Given the description of an element on the screen output the (x, y) to click on. 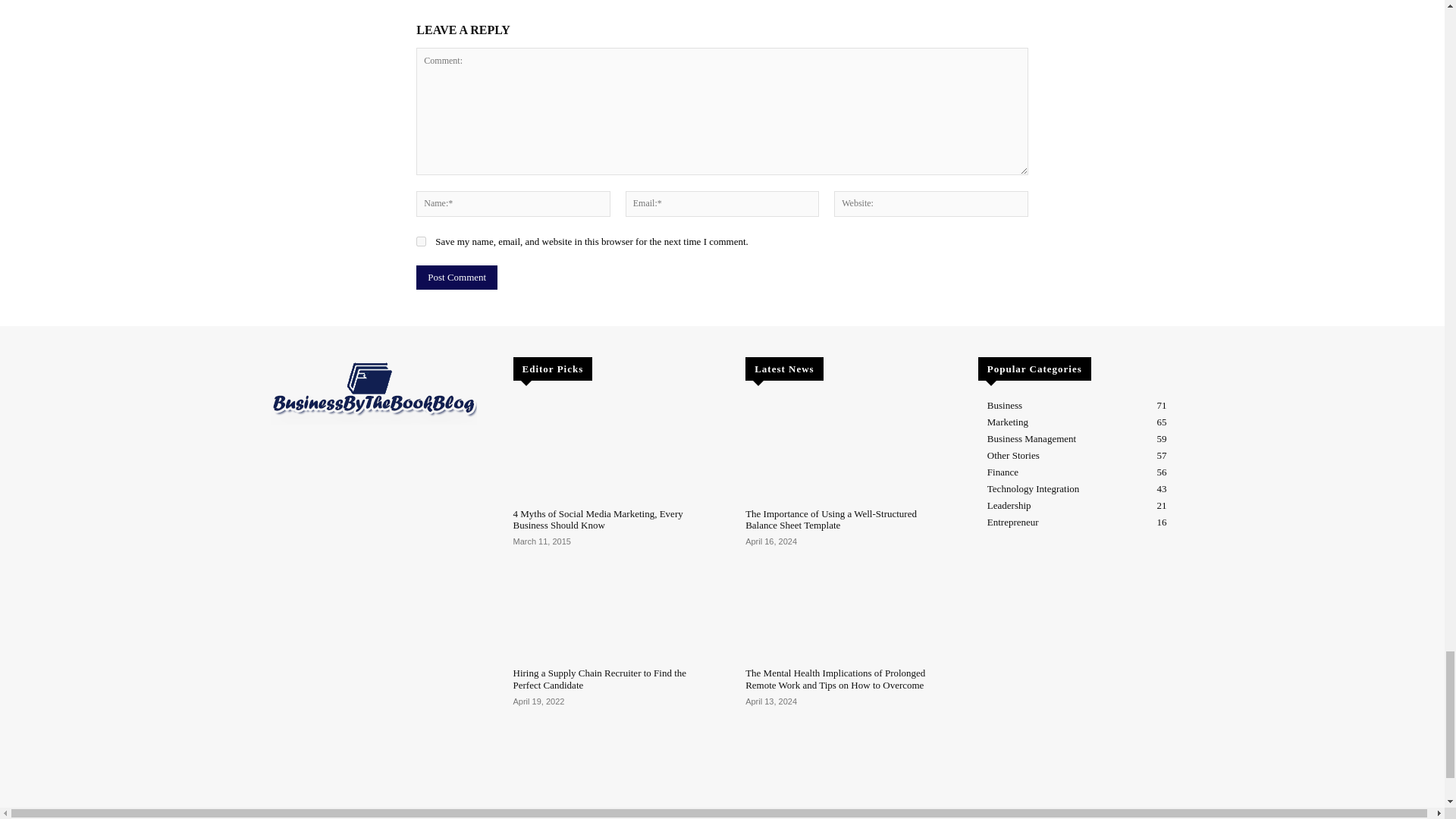
yes (421, 241)
Post Comment (456, 277)
